Given the description of an element on the screen output the (x, y) to click on. 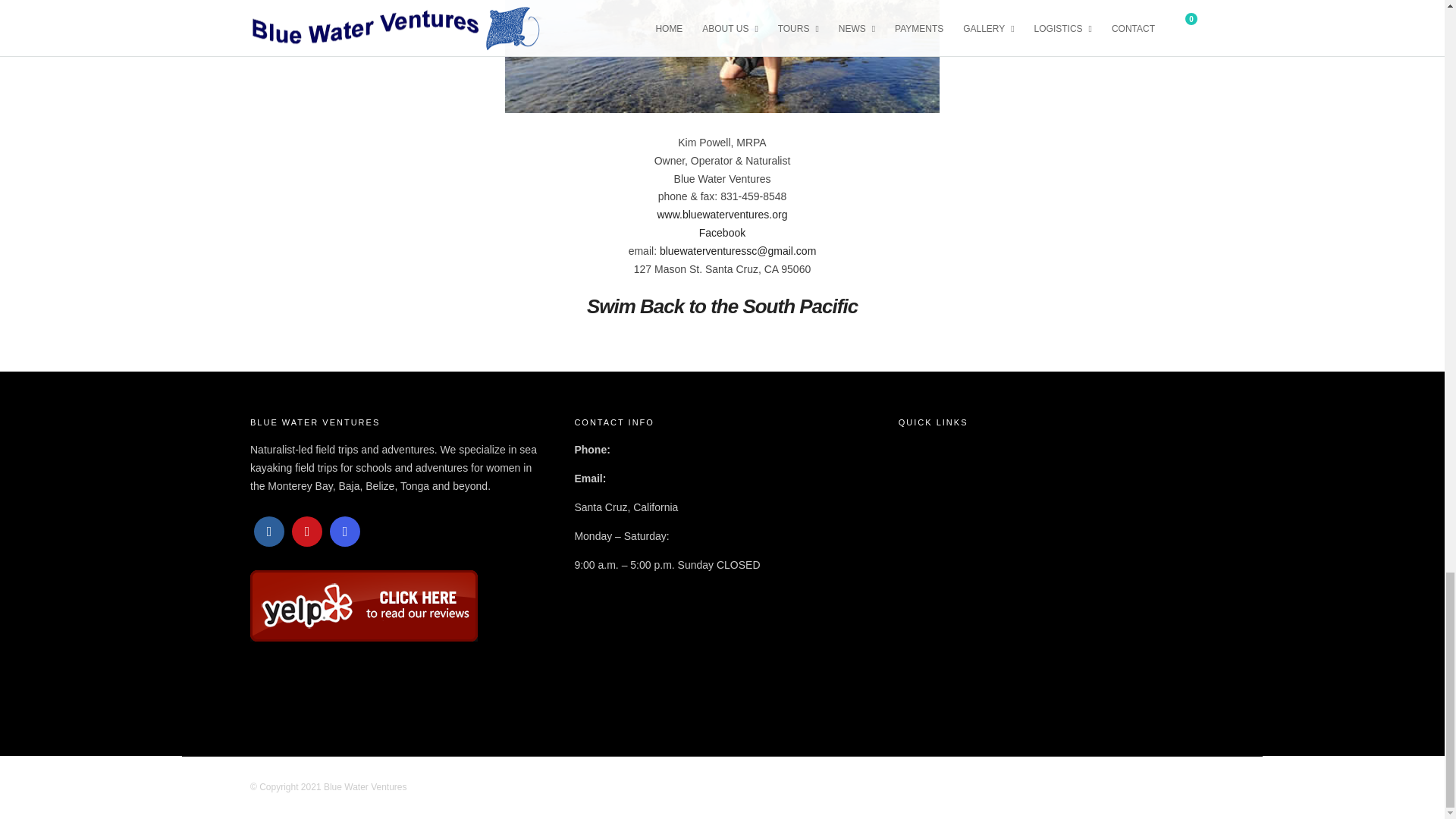
Youtube (306, 531)
Instagram (344, 531)
Facebook (268, 531)
